Given the description of an element on the screen output the (x, y) to click on. 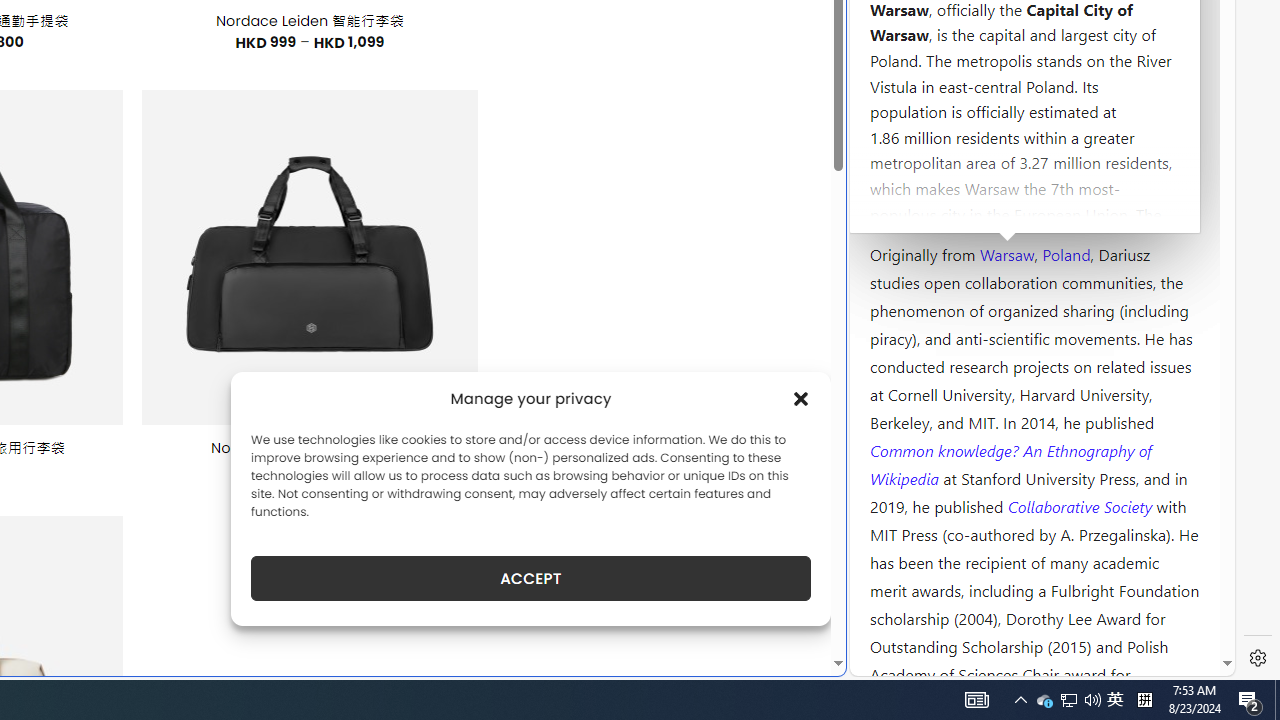
Kozminski University (1034, 136)
google_privacy_policy_zh-CN.pdf (687, 482)
ACCEPT (530, 578)
